Given the description of an element on the screen output the (x, y) to click on. 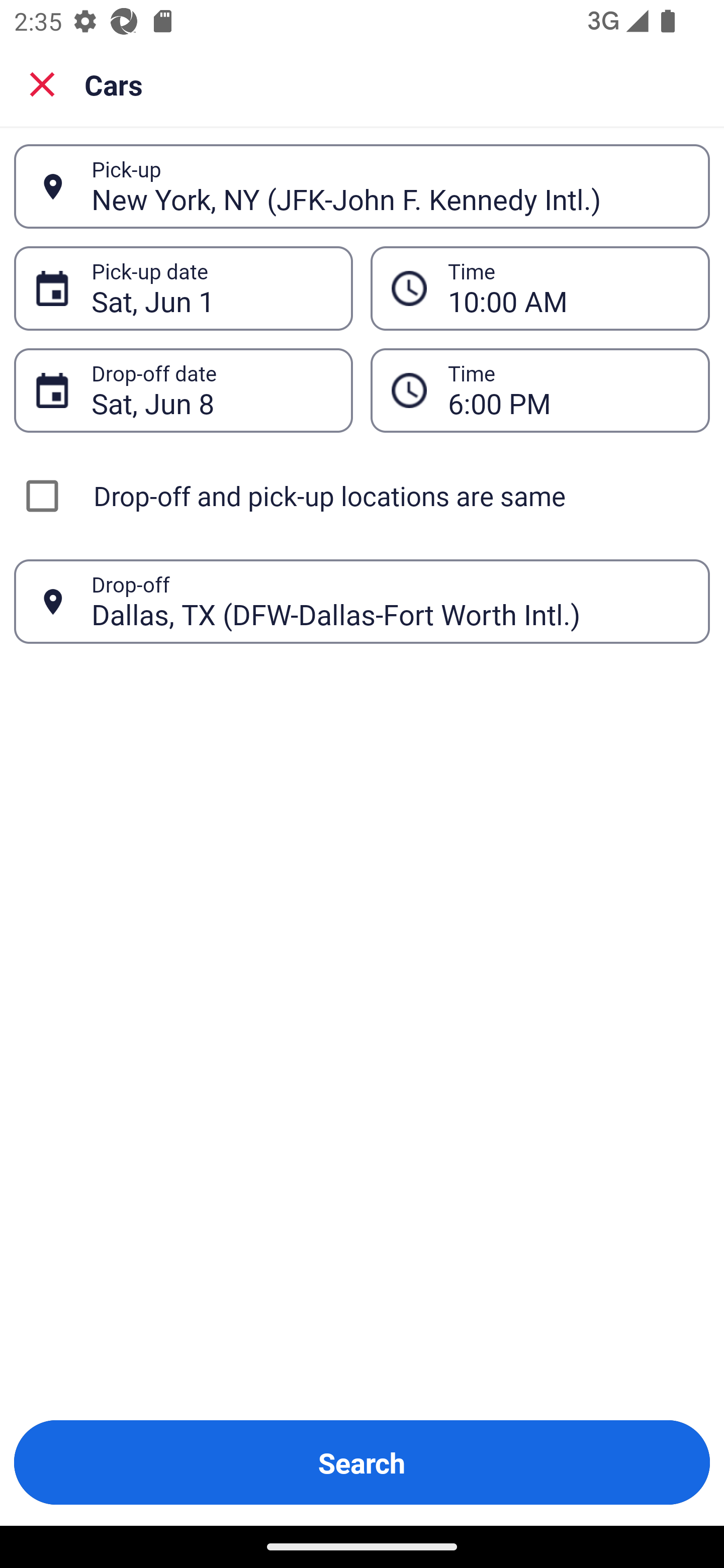
Close search screen (41, 83)
New York, NY (JFK-John F. Kennedy Intl.) Pick-up (361, 186)
New York, NY (JFK-John F. Kennedy Intl.) (389, 186)
Sat, Jun 1 Pick-up date (183, 288)
10:00 AM (540, 288)
Sat, Jun 1 (211, 288)
10:00 AM (568, 288)
Sat, Jun 8 Drop-off date (183, 390)
6:00 PM (540, 390)
Sat, Jun 8 (211, 390)
6:00 PM (568, 390)
Drop-off and pick-up locations are same (361, 495)
Dallas, TX (DFW-Dallas-Fort Worth Intl.) Drop-off (361, 601)
Dallas, TX (DFW-Dallas-Fort Worth Intl.) (389, 601)
Search Button Search (361, 1462)
